Given the description of an element on the screen output the (x, y) to click on. 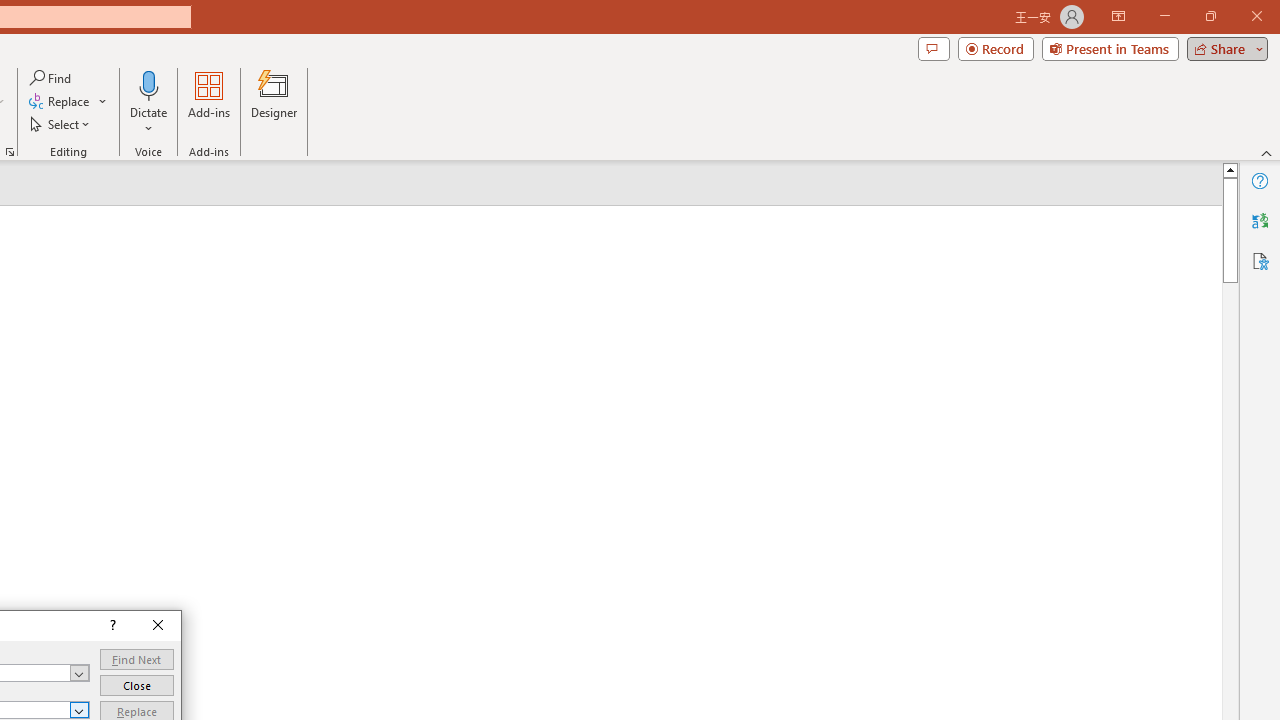
Replace... (60, 101)
Open (79, 709)
Dictate (149, 84)
Find... (51, 78)
Restore Down (1210, 16)
